Given the description of an element on the screen output the (x, y) to click on. 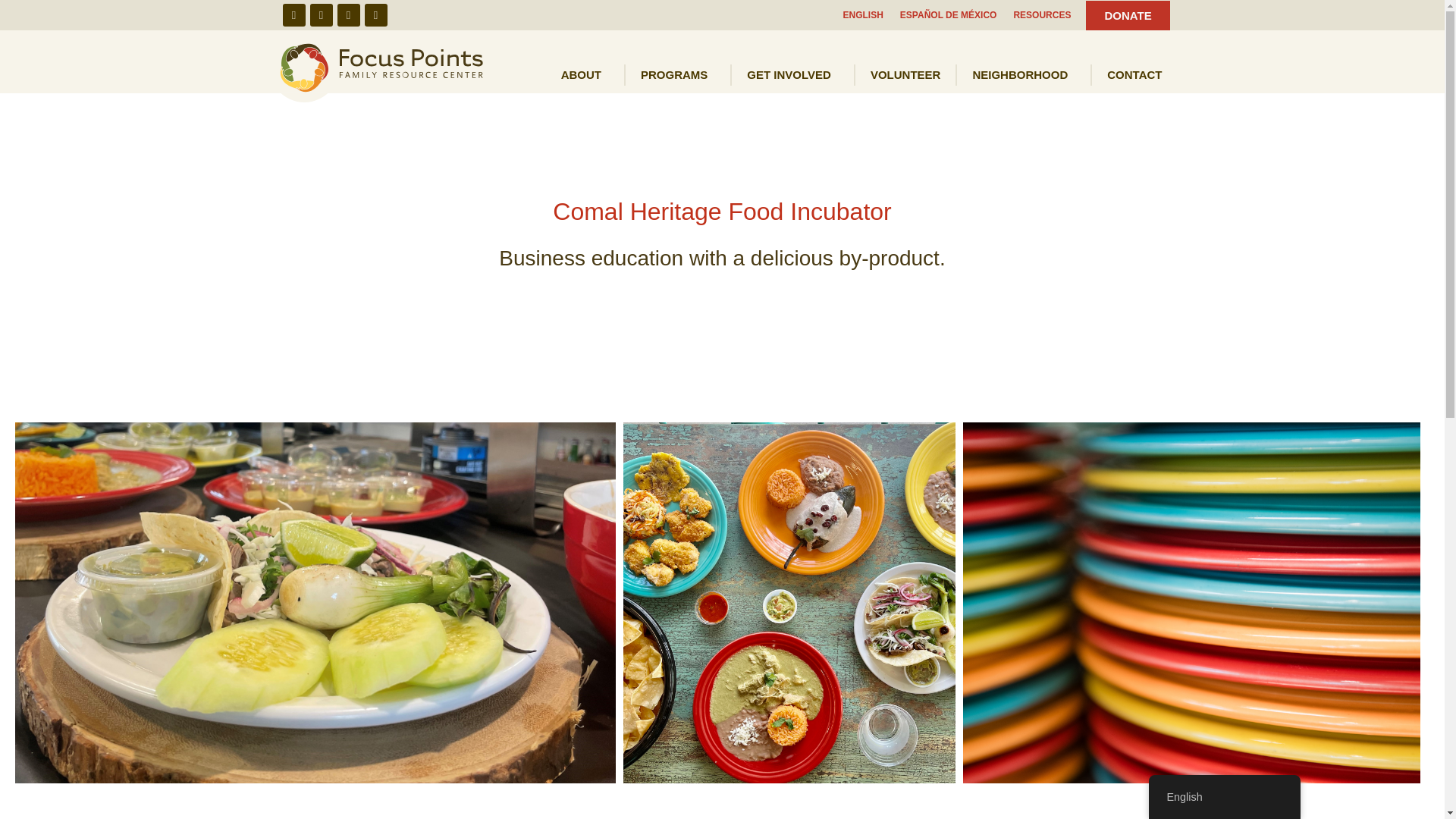
CONTACT (1134, 74)
ENGLISH (863, 15)
PROGRAMS (678, 74)
ABOUT (585, 74)
Youtube (347, 15)
Instagram (319, 15)
DONATE (1127, 14)
NEIGHBORHOOD (1023, 74)
GET INVOLVED (792, 74)
Facebook-f (293, 15)
Linkedin (375, 15)
RESOURCES (1042, 15)
VOLUNTEER (906, 74)
